Given the description of an element on the screen output the (x, y) to click on. 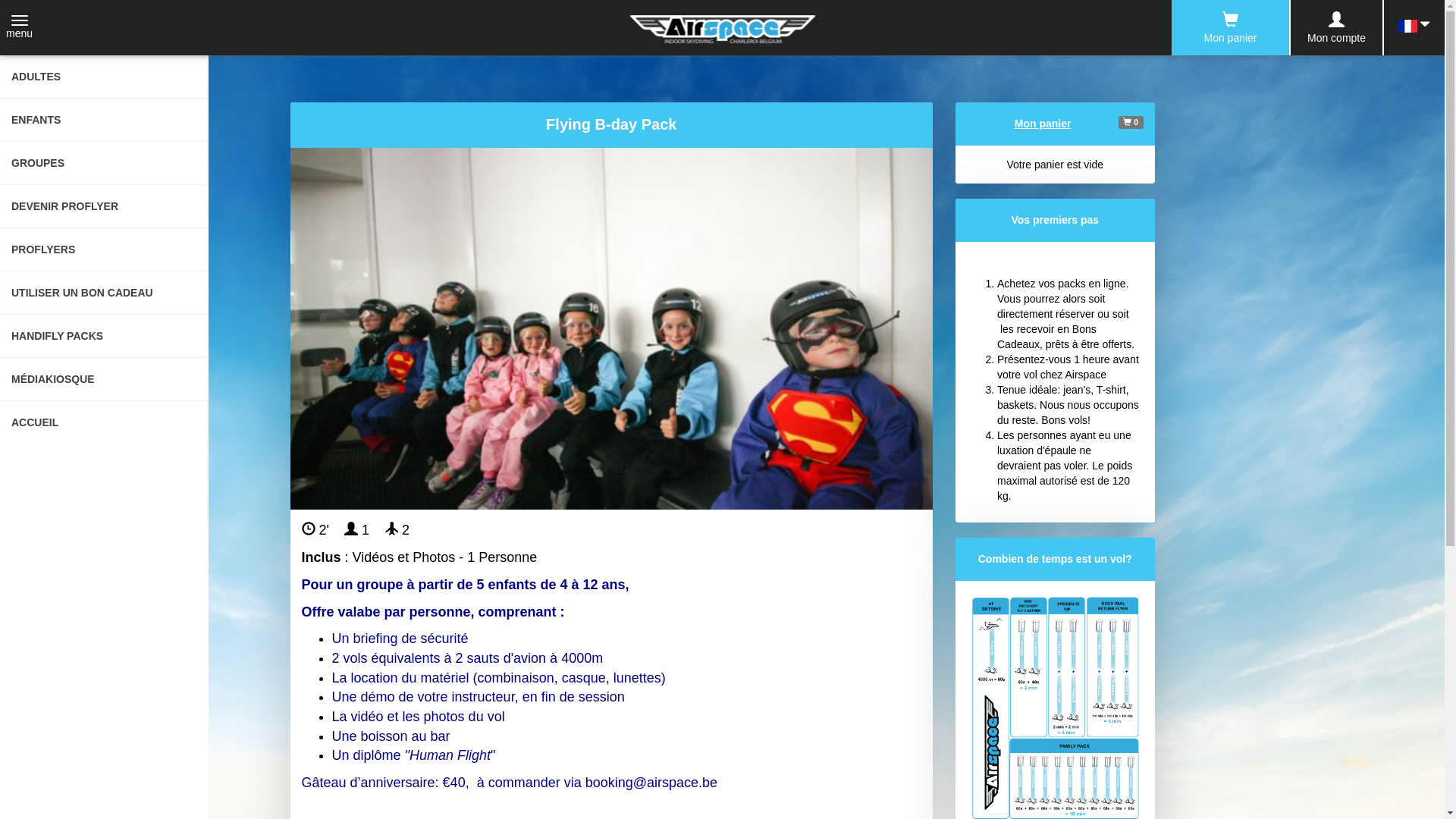
ACCUEIL Element type: text (104, 422)
Mon compte Element type: text (1336, 27)
HANDIFLY PACKS Element type: text (104, 335)
booking@airspace.be Element type: text (651, 782)
UTILISER UN BON CADEAU Element type: text (104, 292)
PROFLYERS Element type: text (104, 249)
ADULTES Element type: text (104, 76)
Mon panier Element type: text (1230, 27)
DEVENIR PROFLYER Element type: text (104, 206)
GROUPES Element type: text (104, 163)
ENFANTS Element type: text (104, 119)
menu Element type: text (19, 28)
Mon panier Element type: text (1042, 123)
